Given the description of an element on the screen output the (x, y) to click on. 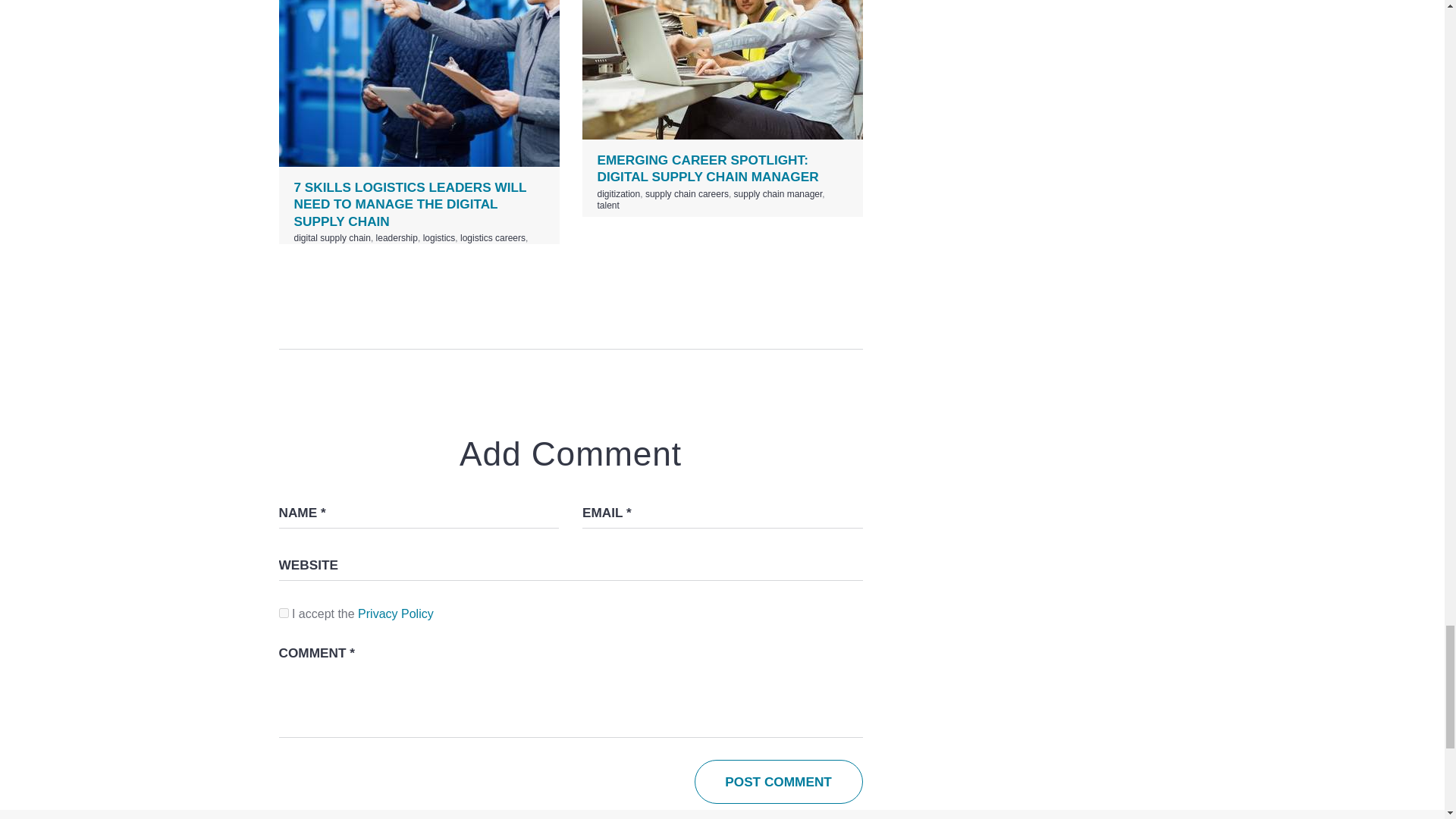
Post Comment (778, 782)
1 (283, 613)
